Given the description of an element on the screen output the (x, y) to click on. 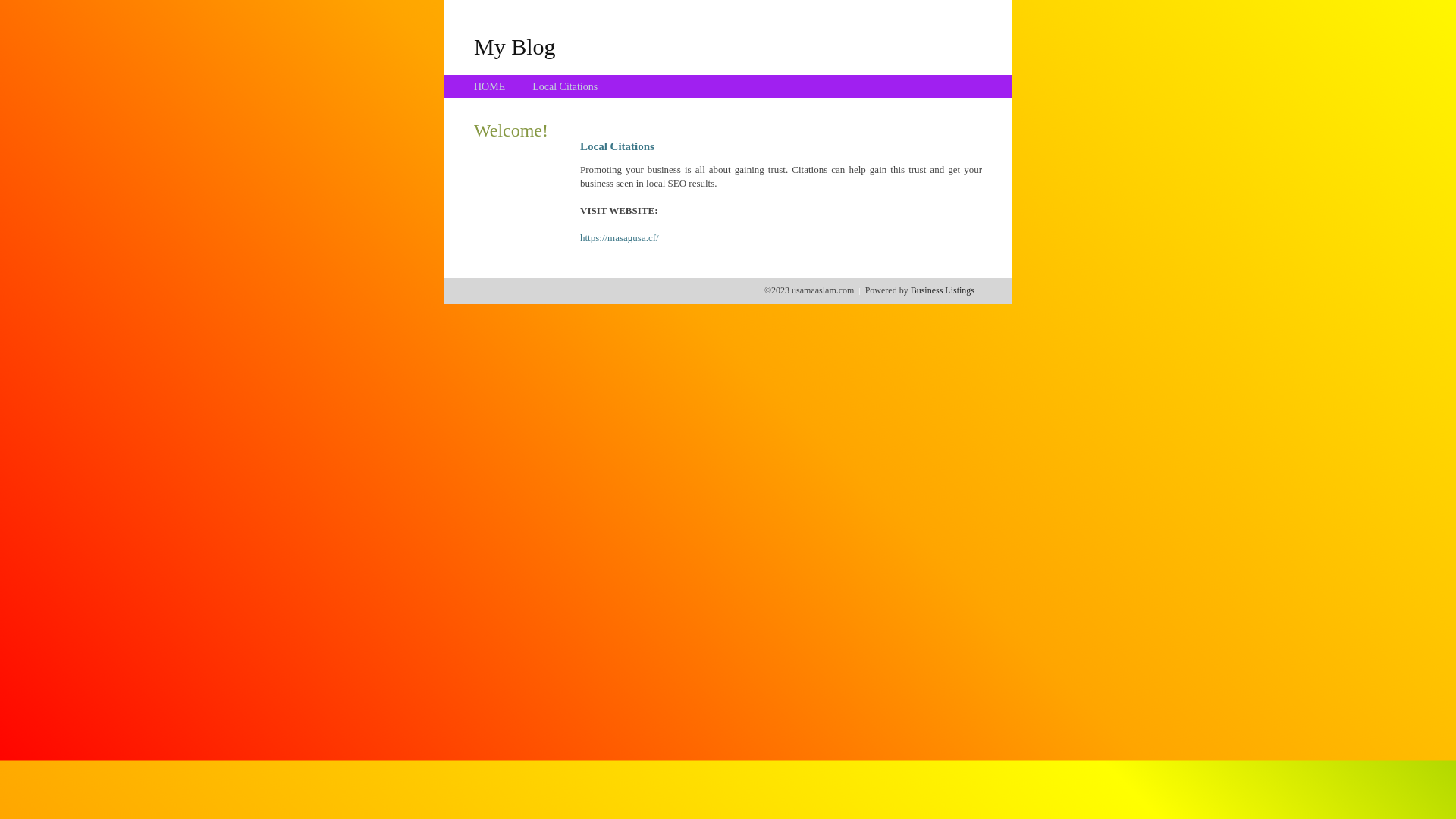
My Blog Element type: text (514, 46)
https://masagusa.cf/ Element type: text (619, 237)
Business Listings Element type: text (942, 290)
Local Citations Element type: text (564, 86)
HOME Element type: text (489, 86)
